Given the description of an element on the screen output the (x, y) to click on. 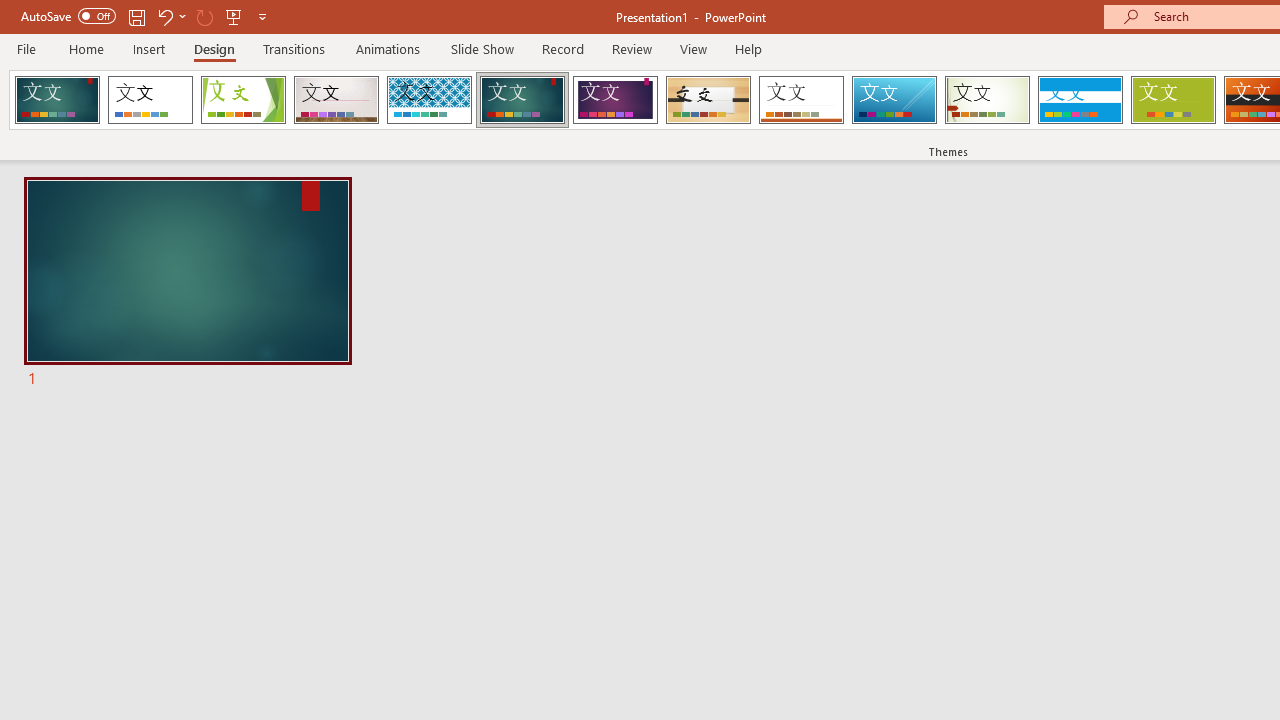
Retrospect Loading Preview... (801, 100)
Wisp Loading Preview... (987, 100)
Facet (243, 100)
Banded Loading Preview... (1080, 100)
